Given the description of an element on the screen output the (x, y) to click on. 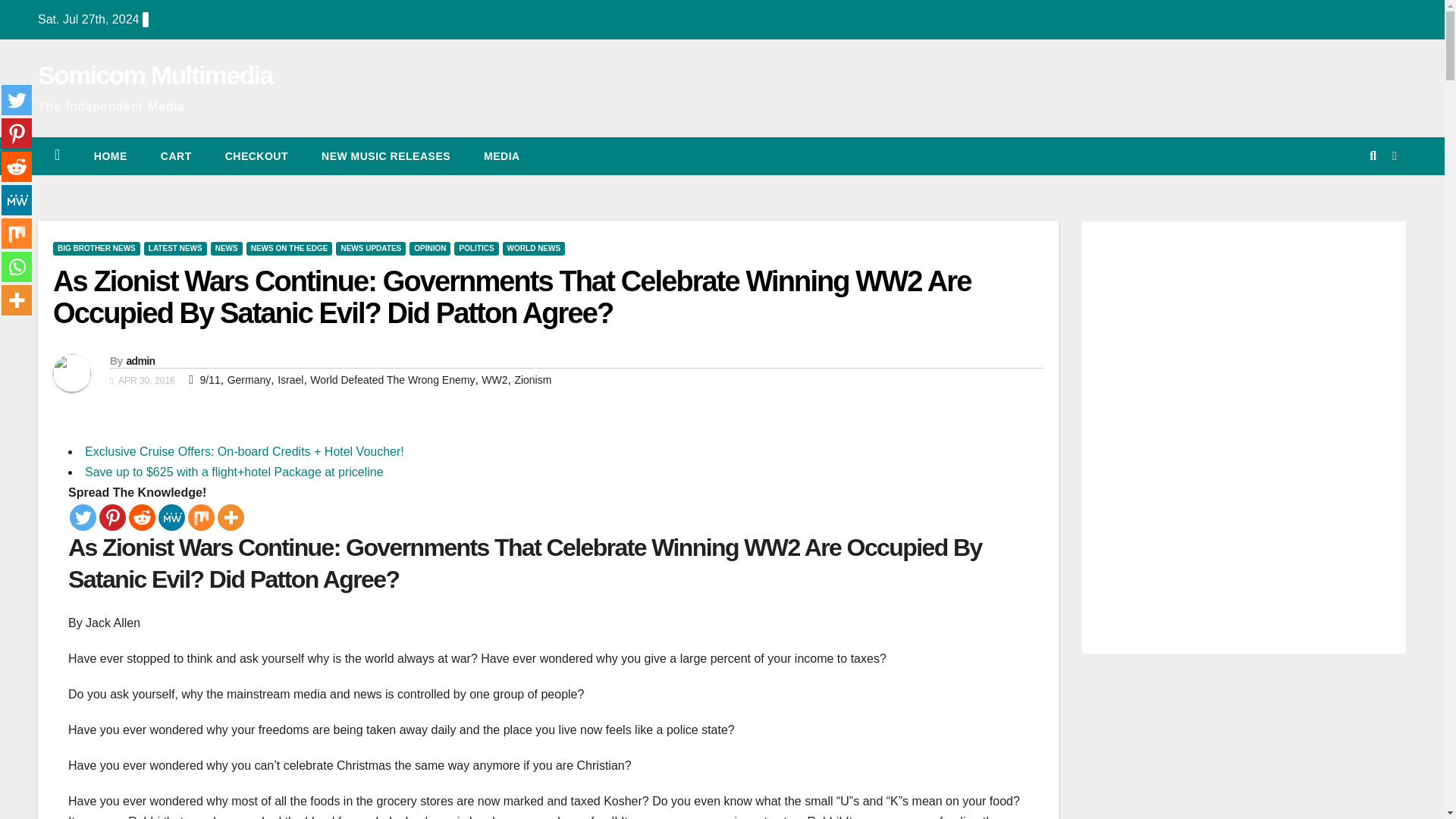
NEWS UPDATES (371, 248)
World Defeated The Wrong Enemy (392, 379)
BIG BROTHER NEWS (95, 248)
New Music Releases (385, 156)
LATEST NEWS (175, 248)
POLITICS (475, 248)
Israel (290, 379)
Pinterest (112, 517)
Checkout (256, 156)
Media (502, 156)
HOME (110, 156)
NEW MUSIC RELEASES (385, 156)
admin (139, 360)
WORLD NEWS (534, 248)
Reddit (142, 517)
